Given the description of an element on the screen output the (x, y) to click on. 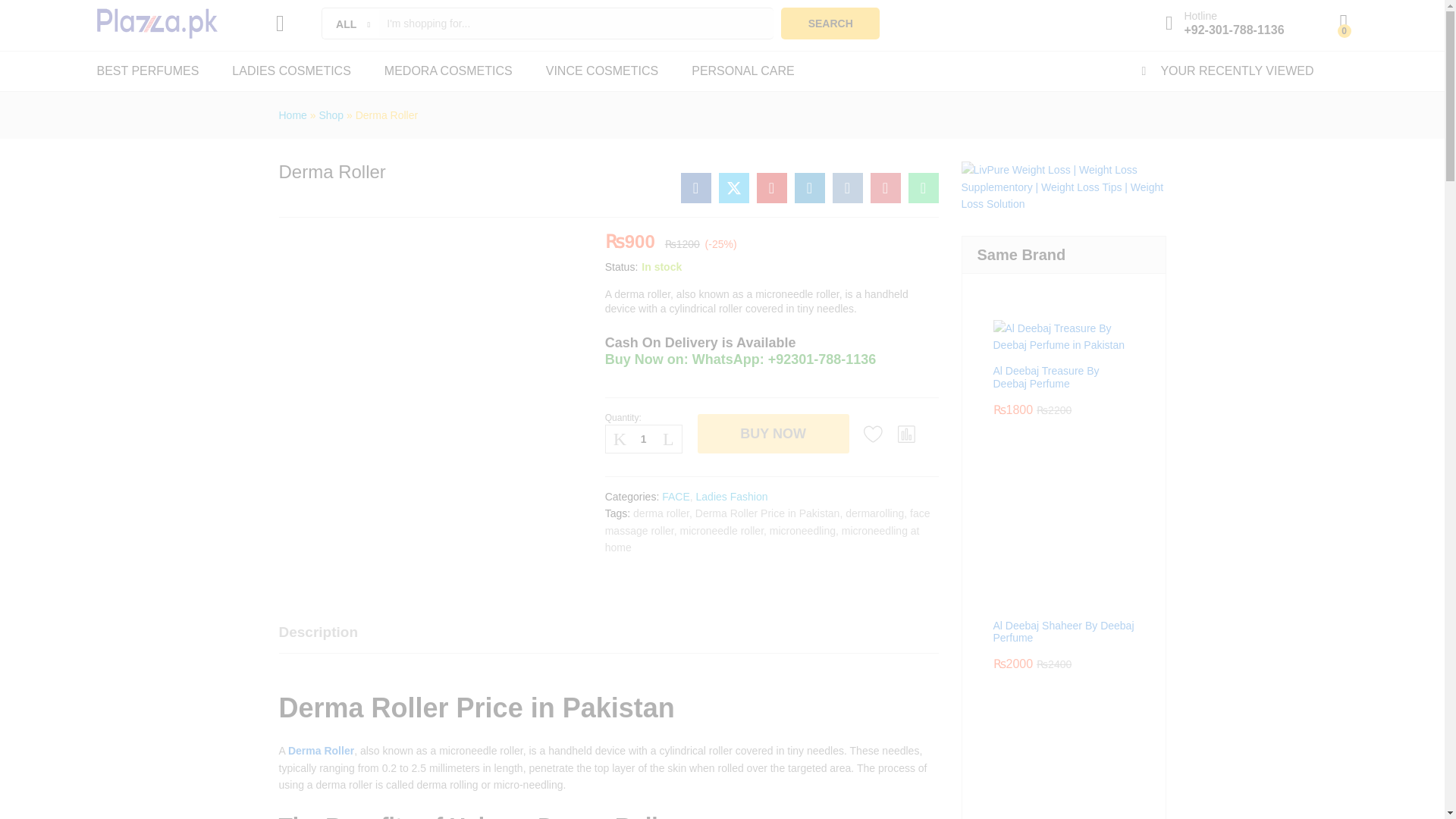
MEDORA COSMETICS (448, 70)
SEARCH (829, 23)
Derma Roller (923, 187)
Shop (330, 114)
Derma Roller (696, 187)
Home (293, 114)
Wishlist (873, 433)
Qty (643, 438)
BEST PERFUMES (148, 70)
Derma Roller (772, 187)
